Given the description of an element on the screen output the (x, y) to click on. 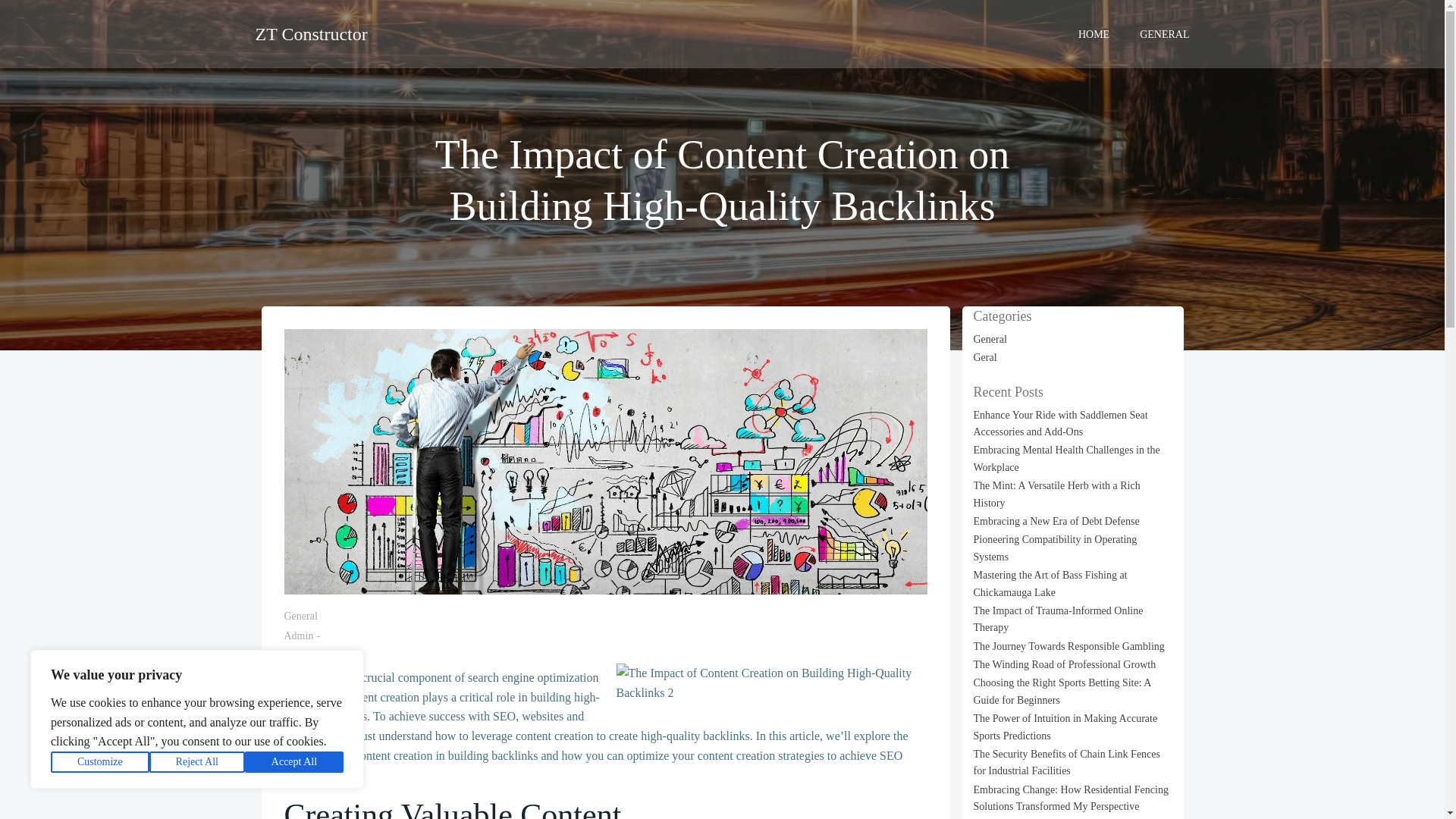
Customize (99, 762)
HOME (1093, 33)
Geral (985, 357)
GENERAL (1164, 33)
Reject All (196, 762)
Mastering the Art of Bass Fishing at Chickamauga Lake (1050, 583)
General (990, 338)
Accept All (293, 762)
The Impact of Trauma-Informed Online Therapy (1058, 619)
Embracing a New Era of Debt Defense (1057, 521)
The Mint: A Versatile Herb with a Rich History (1057, 493)
Embracing Mental Health Challenges in the Workplace (1067, 458)
ZT Constructor (310, 33)
Pioneering Compatibility in Operating Systems (1055, 547)
